Given the description of an element on the screen output the (x, y) to click on. 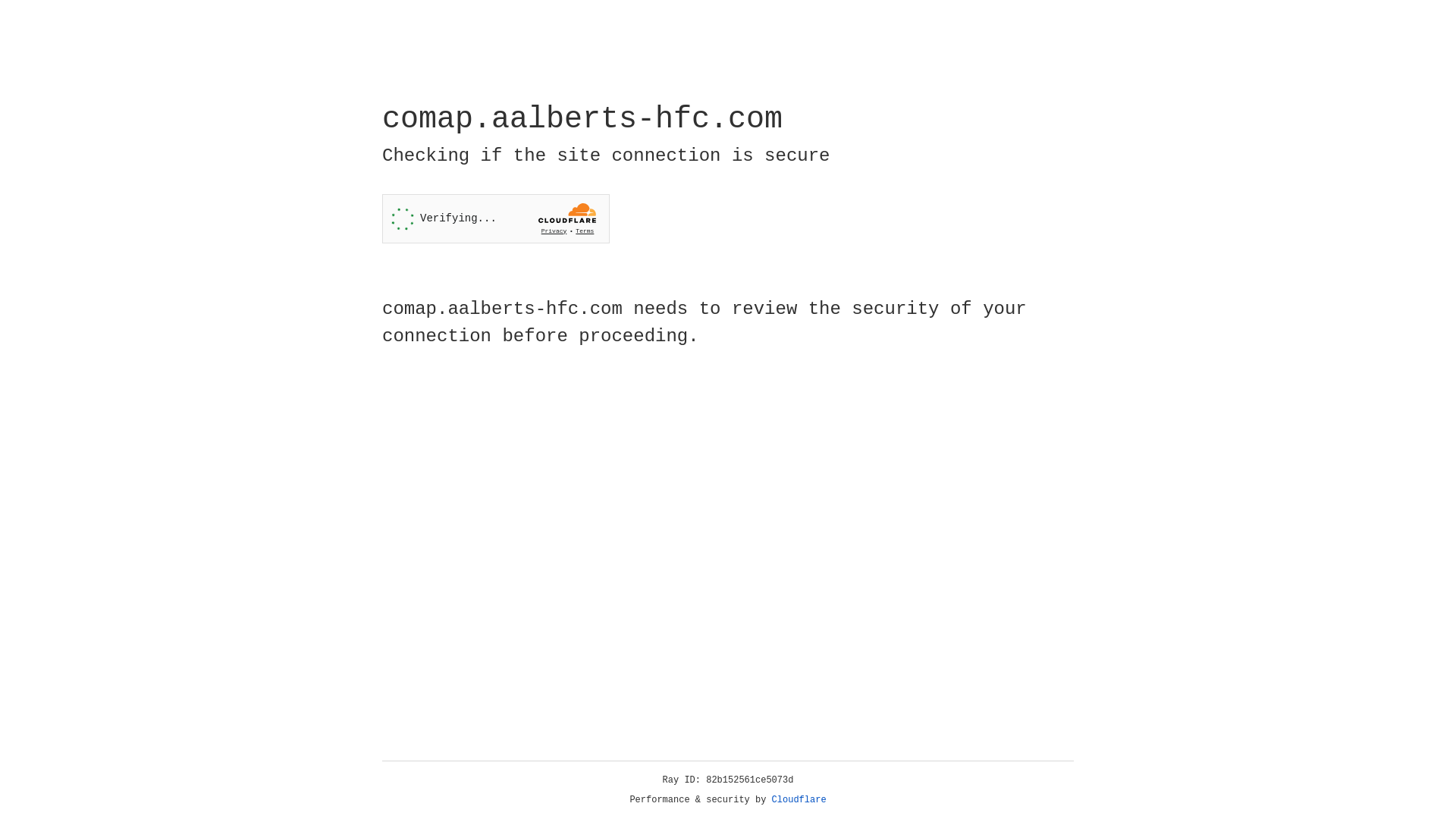
Widget containing a Cloudflare security challenge Element type: hover (495, 218)
Cloudflare Element type: text (798, 799)
